Given the description of an element on the screen output the (x, y) to click on. 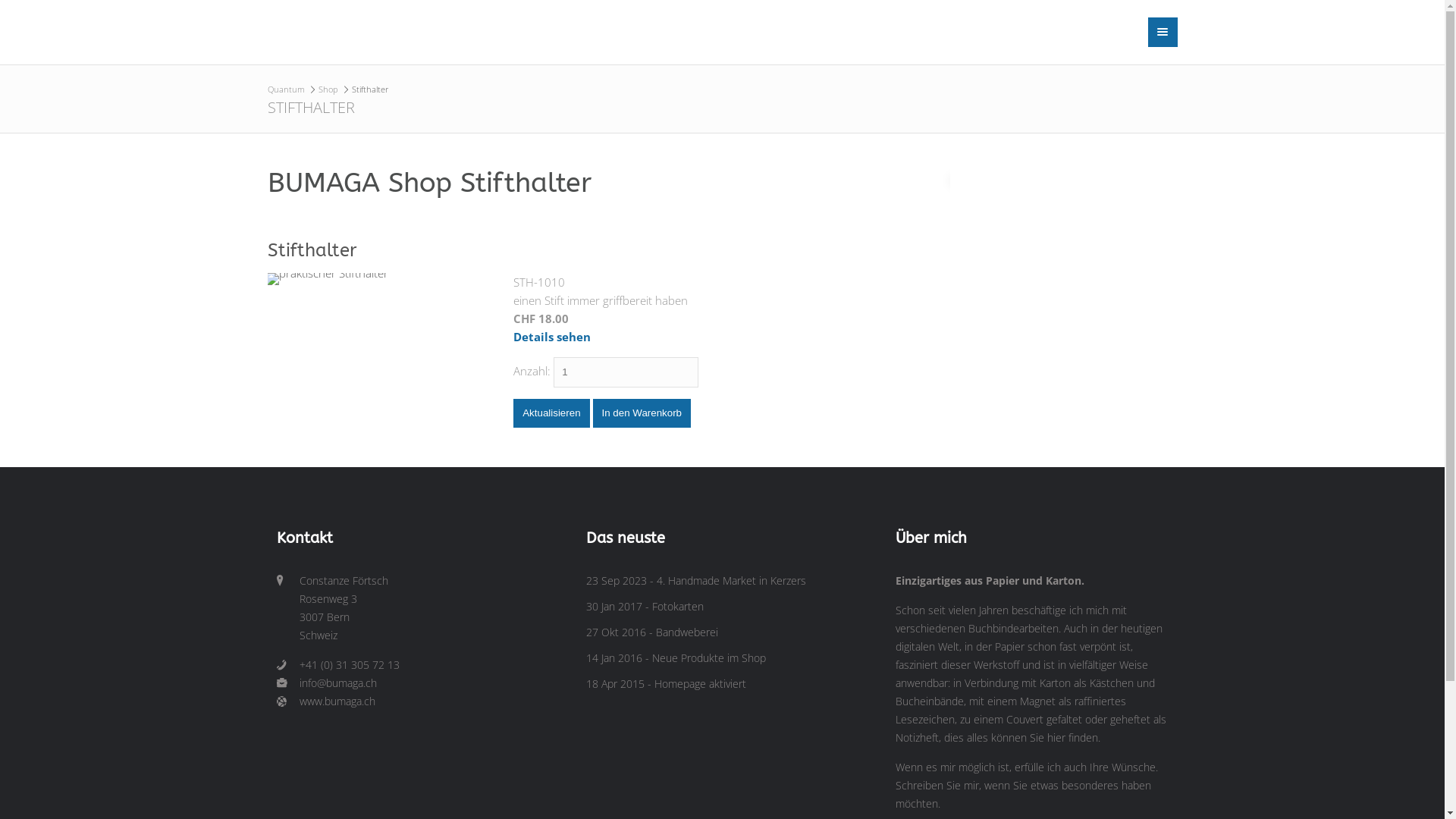
4. Handmade Market in Kerzers Element type: text (731, 580)
Quantum Element type: text (285, 88)
Stifthalter Element type: hover (383, 351)
In den Warenkorb Element type: text (641, 412)
Bandweberei Element type: text (686, 632)
info@bumaga.ch Element type: text (424, 683)
Shop Element type: text (328, 88)
Aktualisieren Element type: text (551, 412)
Details sehen Element type: text (551, 336)
www.bumaga.ch Element type: text (424, 701)
Stifthalter Element type: text (311, 249)
Neue Produkte im Shop Element type: text (708, 658)
Fotokarten Element type: text (677, 606)
Homepage aktiviert Element type: text (700, 683)
